Given the description of an element on the screen output the (x, y) to click on. 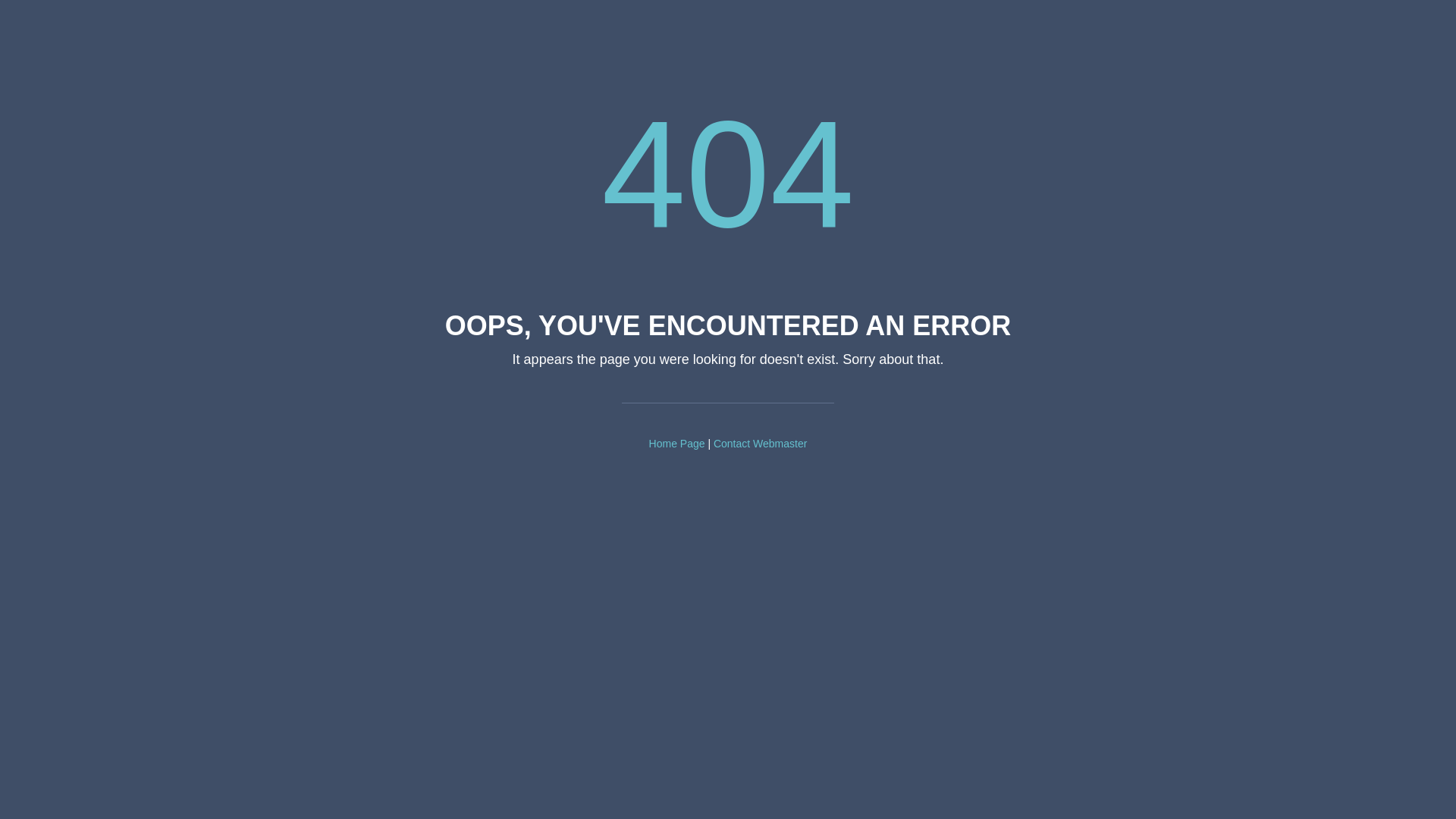
Home Page Element type: text (677, 443)
Contact Webmaster Element type: text (759, 443)
